Given the description of an element on the screen output the (x, y) to click on. 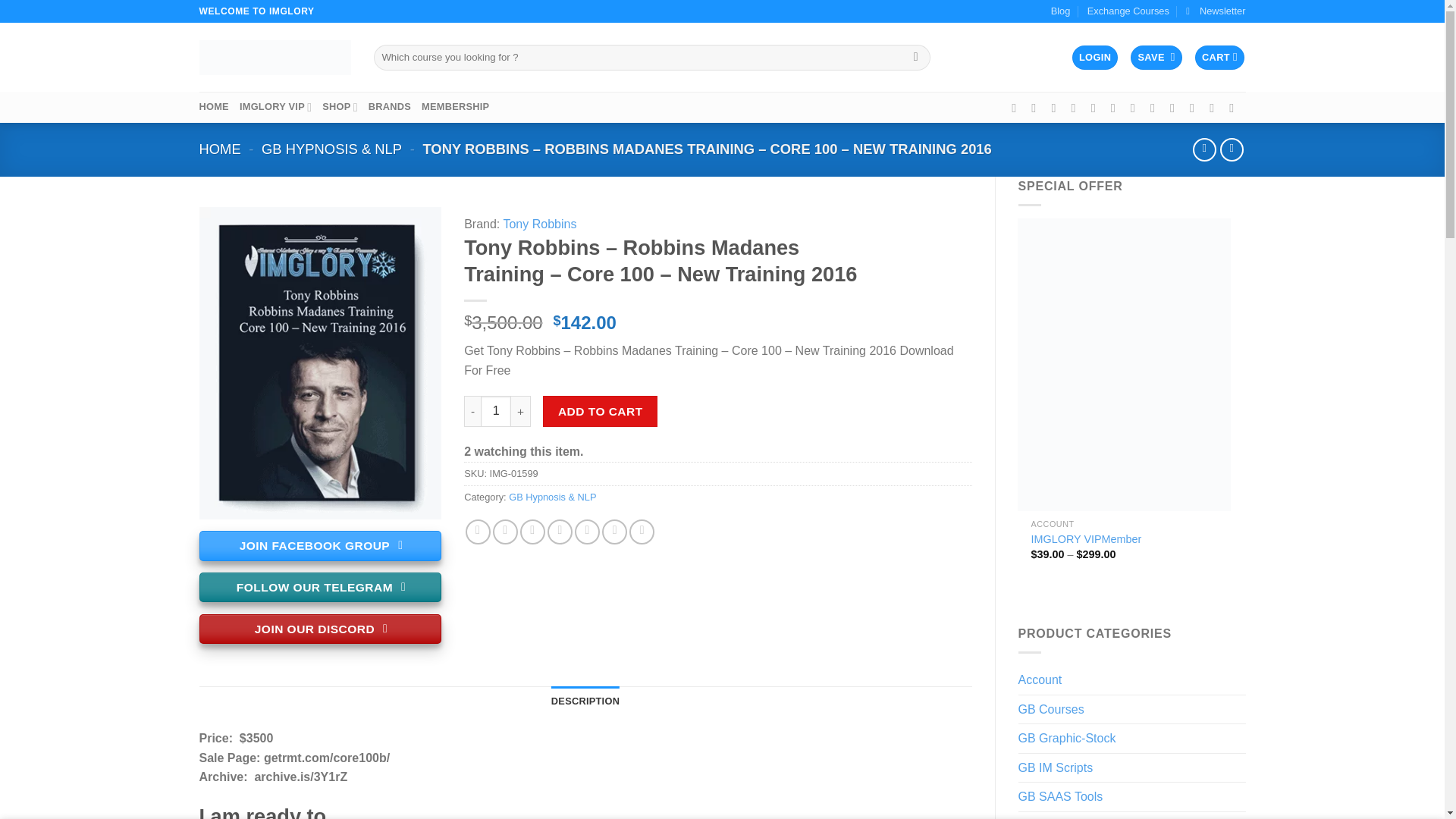
SAVE (1155, 57)
HOME (213, 106)
Follow on YouTube (1176, 107)
Newsletter (1215, 11)
Follow on LinkedIn (1155, 107)
Login (1094, 57)
Search (915, 57)
LOGIN (1094, 57)
IMGLORY VIP (275, 106)
Cart (1219, 57)
